Given the description of an element on the screen output the (x, y) to click on. 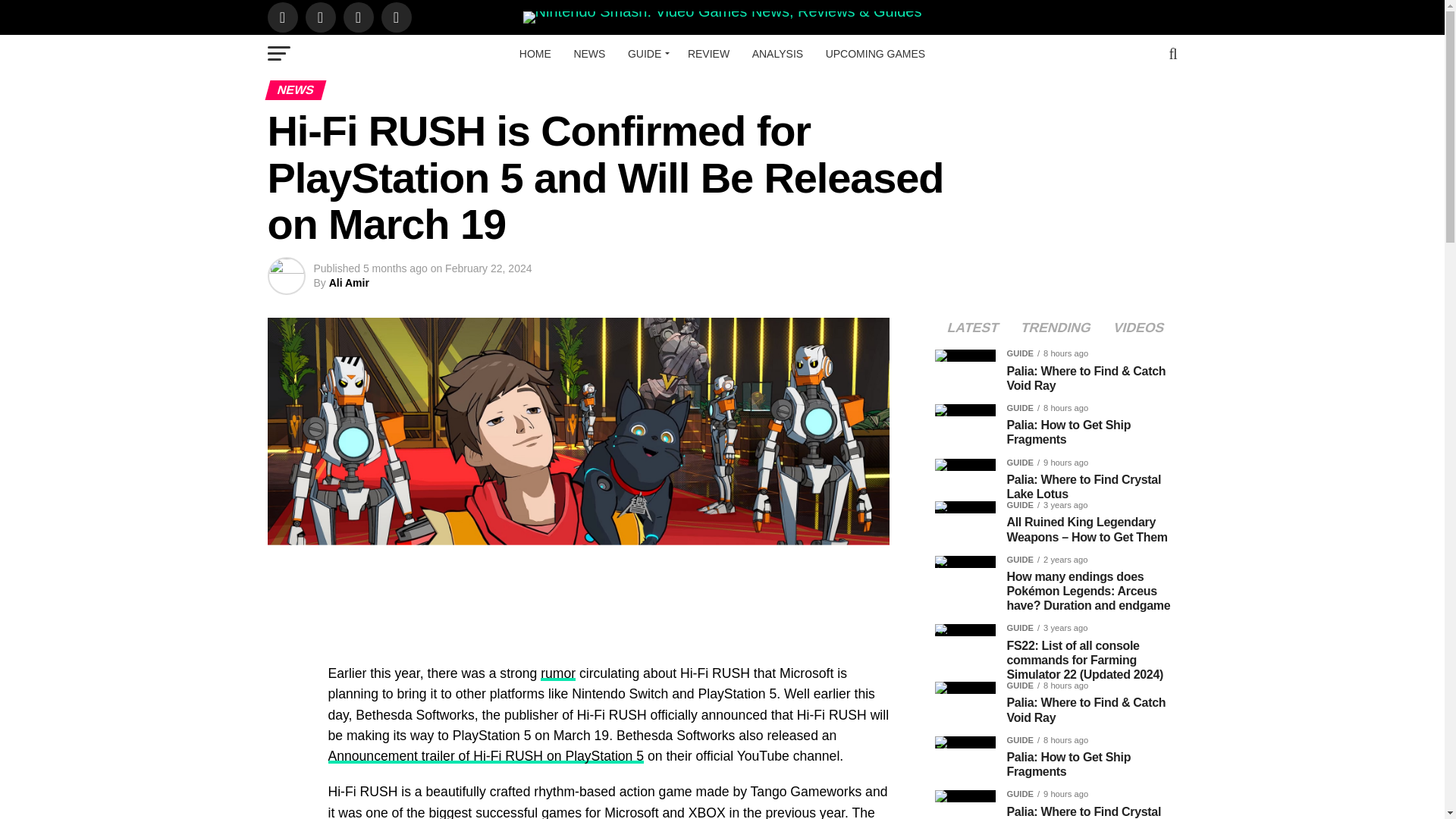
Posts by Ali Amir (349, 282)
HOME (535, 53)
GUIDE (646, 53)
NEWS (589, 53)
